Given the description of an element on the screen output the (x, y) to click on. 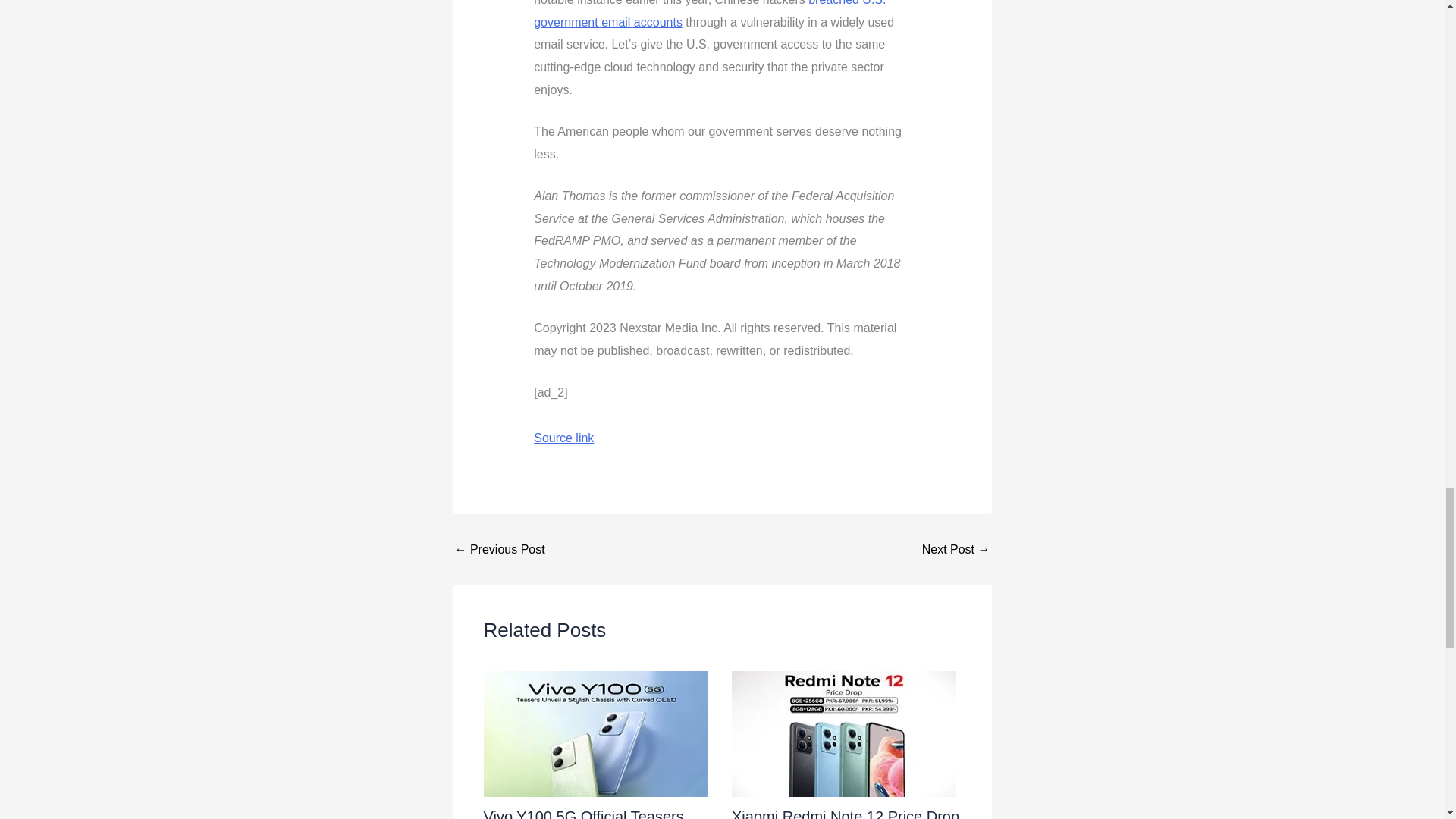
Source link (564, 437)
breached U.S. government email accounts (709, 14)
